Given the description of an element on the screen output the (x, y) to click on. 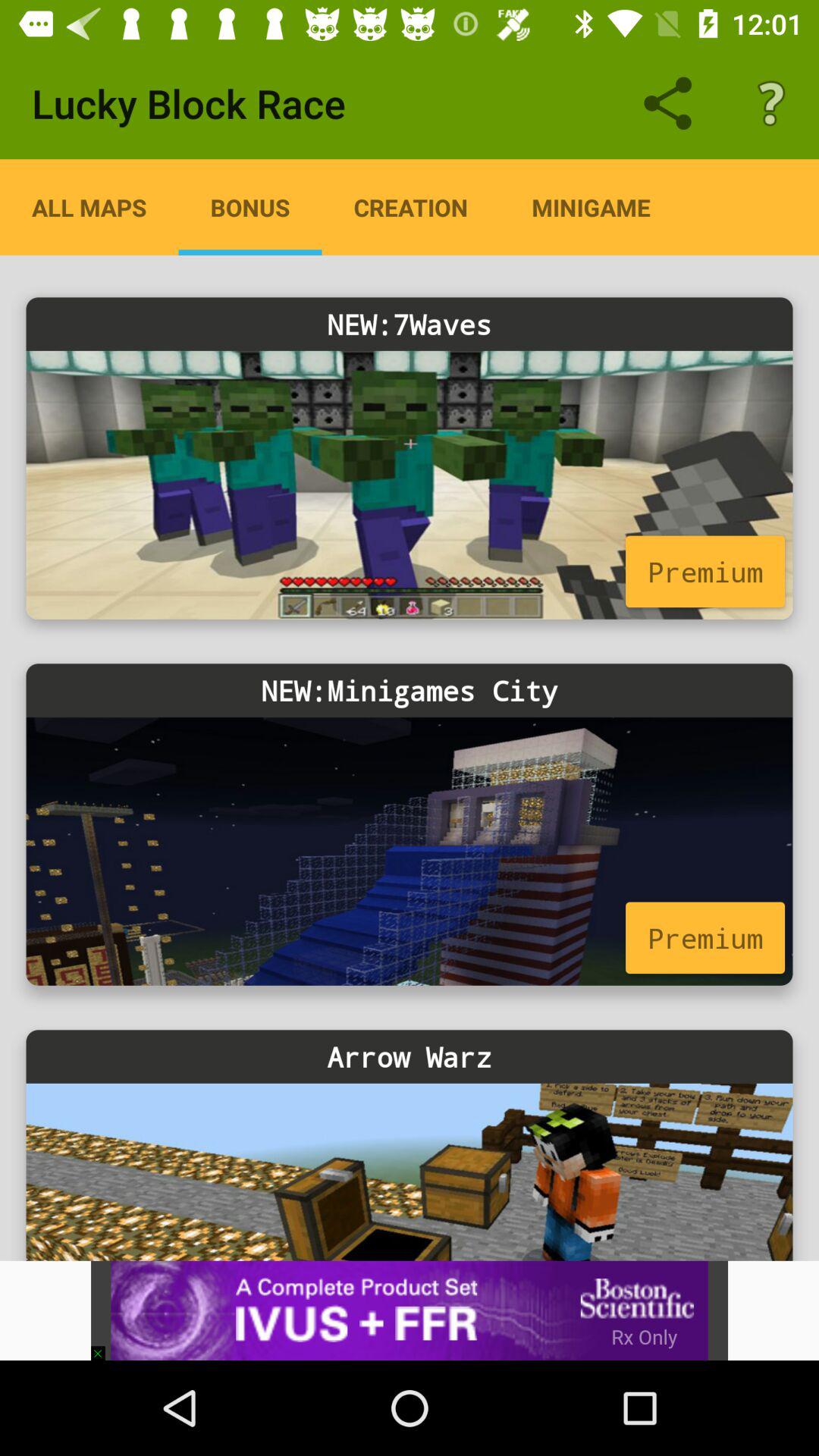
turn on the minigame icon (590, 207)
